Given the description of an element on the screen output the (x, y) to click on. 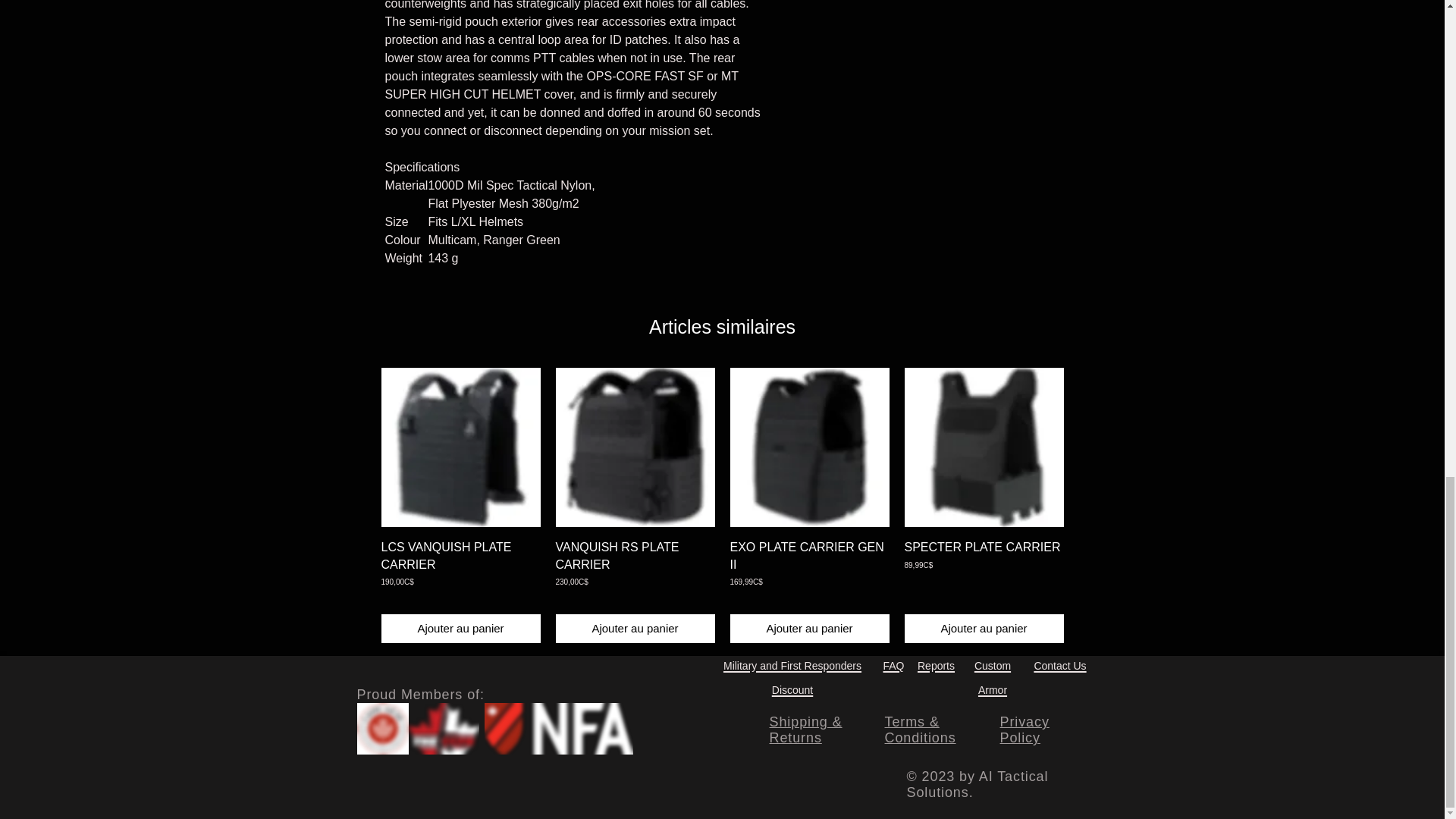
Ajouter au panier (460, 628)
